Given the description of an element on the screen output the (x, y) to click on. 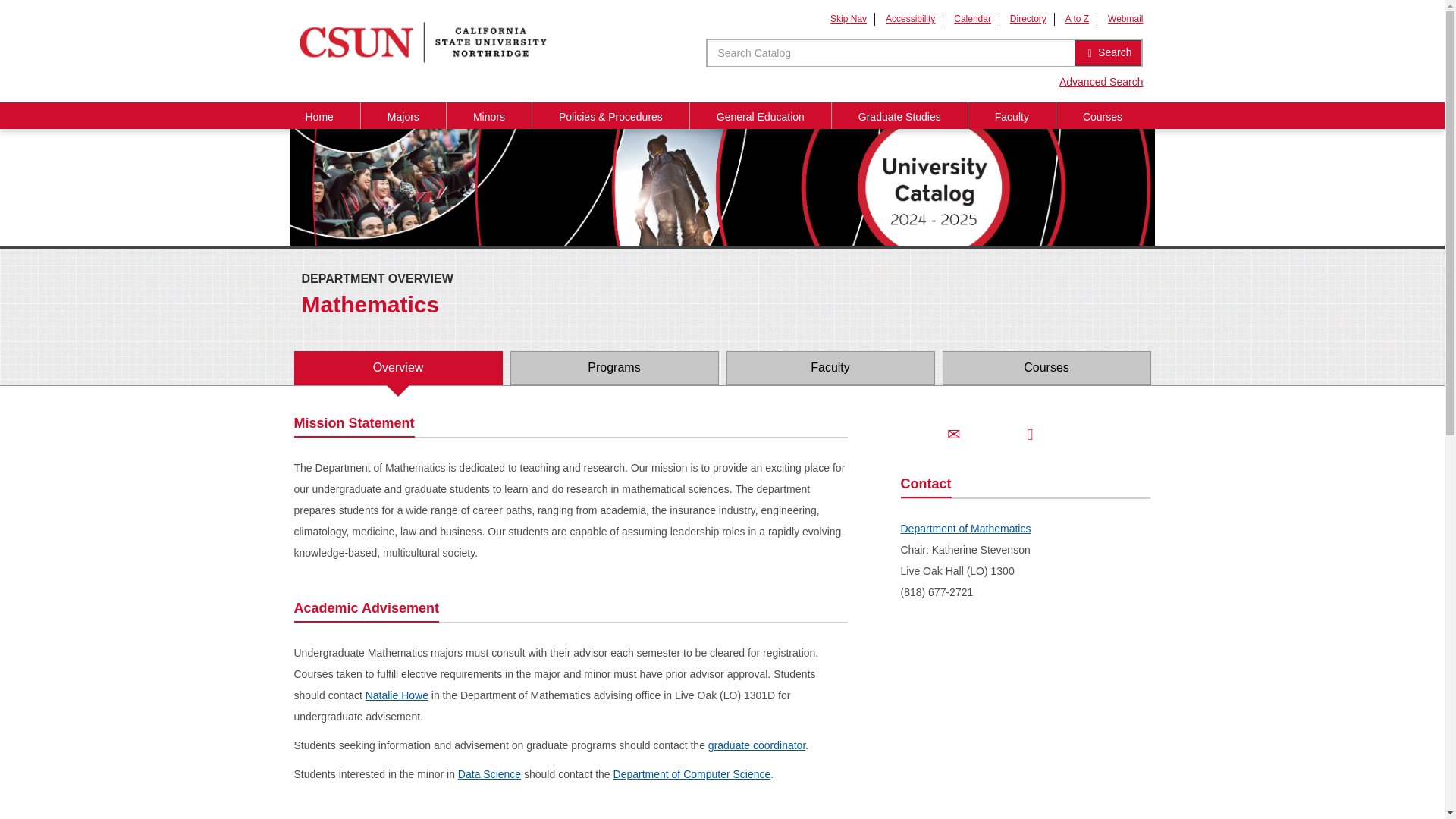
Email this page (953, 433)
Courses (1046, 367)
Department of Computer Science (691, 774)
Home (319, 115)
Minors (488, 115)
Majors (403, 115)
Department of Mathematics (965, 528)
graduate coordinator (756, 745)
Faculty (830, 367)
Directory (1028, 18)
Programs (613, 367)
Courses (1102, 115)
Calendar (972, 18)
Accessibility (909, 18)
Natalie Howe (396, 695)
